Given the description of an element on the screen output the (x, y) to click on. 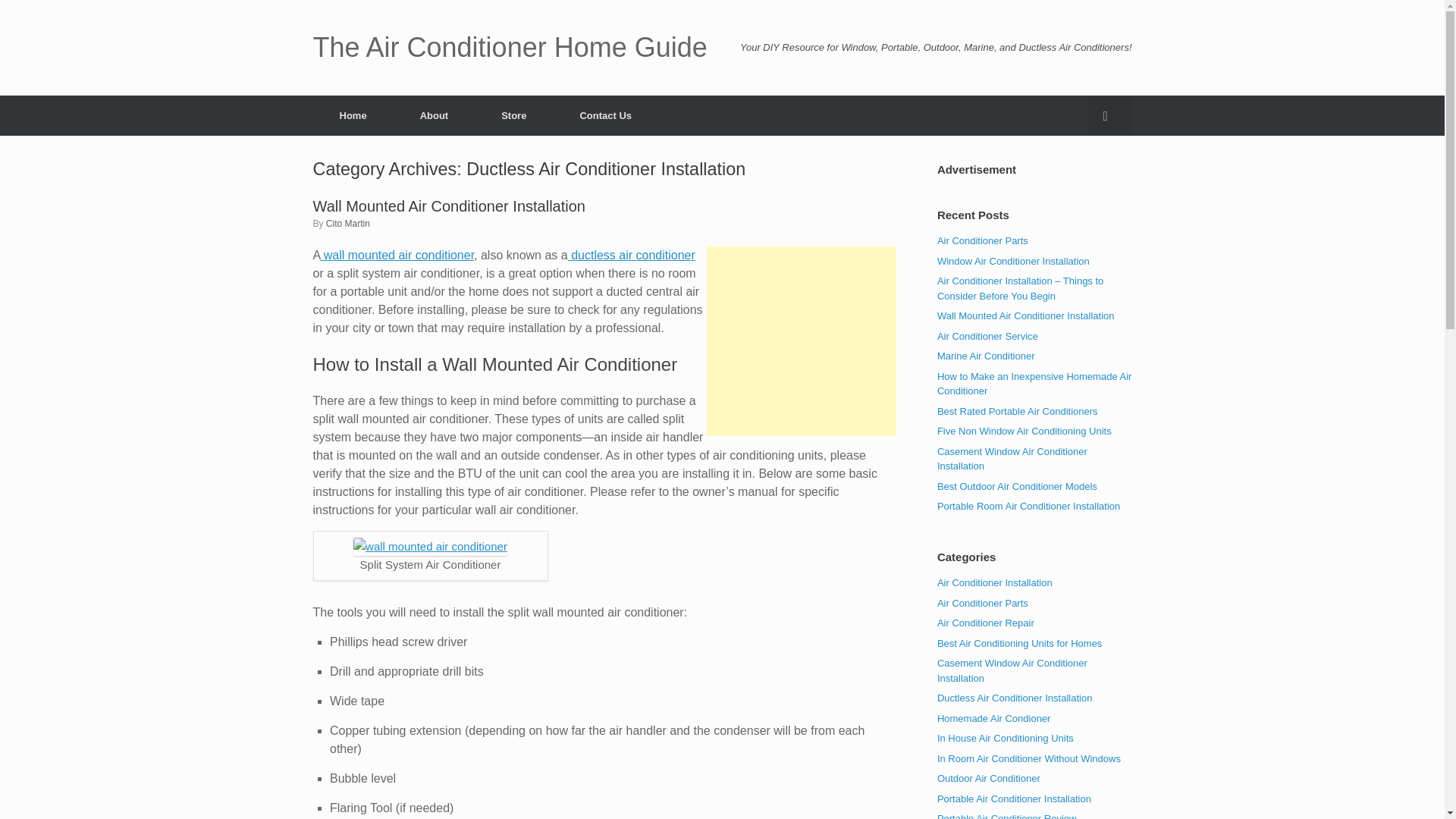
Casement Window Air Conditioner Installation (1012, 458)
Air Conditioner Parts (982, 603)
Store (513, 115)
Best Air Conditioning Units for Homes (1019, 642)
Air Conditioner Repair (985, 622)
Air Conditioner Installation (994, 582)
Permalink to Wall Mounted Air Conditioner Installation (449, 205)
Marine Air Conditioner (986, 355)
About (434, 115)
Best Rated Portable Air Conditioners (1017, 410)
Portable Air Conditioner Review (1007, 816)
Wall Mounted Air Conditioner Installation (449, 205)
Air Conditioner Parts (982, 240)
Outdoor Air Conditioner (989, 778)
Contact Us (605, 115)
